Given the description of an element on the screen output the (x, y) to click on. 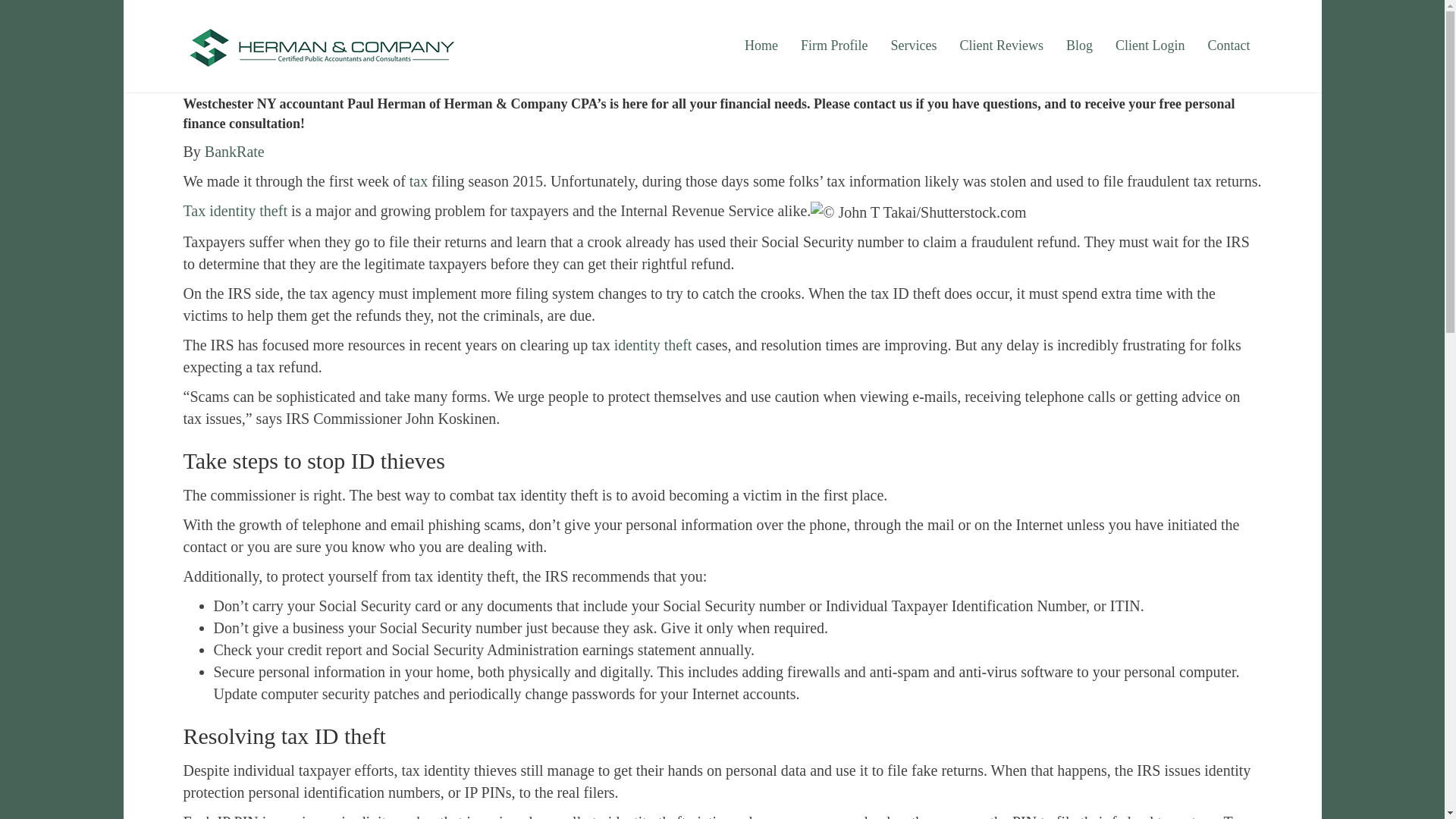
Services (913, 45)
BankRate (234, 151)
contact us (882, 103)
Contact (1227, 45)
identity theft (653, 344)
Client Reviews (1000, 45)
Home (761, 45)
Client Login (1149, 45)
Tax identity theft (234, 210)
Blog (1078, 45)
tax (418, 180)
Firm Profile (834, 45)
